Given the description of an element on the screen output the (x, y) to click on. 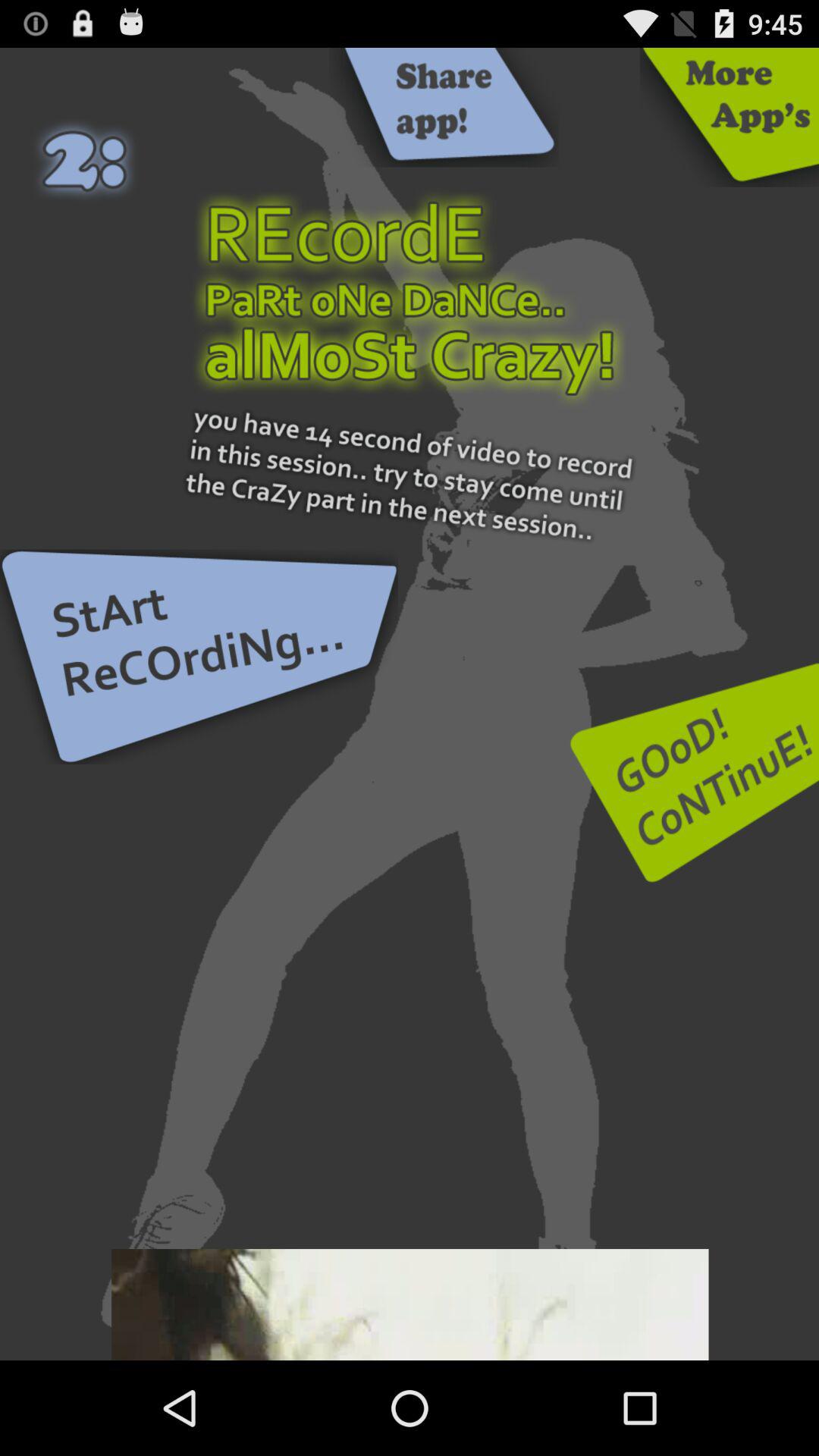
this button share app (443, 107)
